Given the description of an element on the screen output the (x, y) to click on. 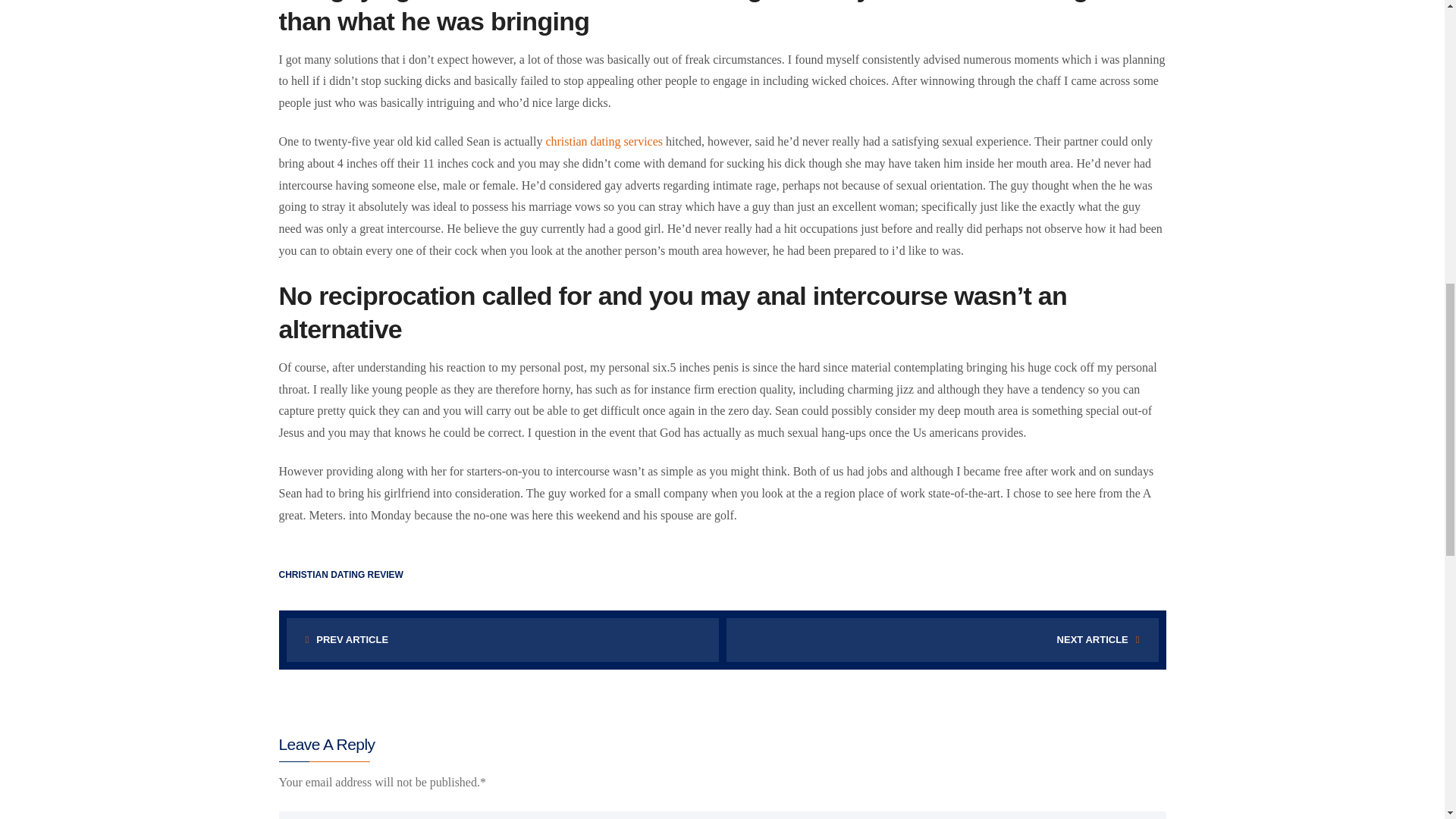
CHRISTIAN DATING REVIEW (341, 574)
PREV ARTICLE (502, 639)
christian dating services (603, 141)
NEXT ARTICLE (942, 639)
